Given the description of an element on the screen output the (x, y) to click on. 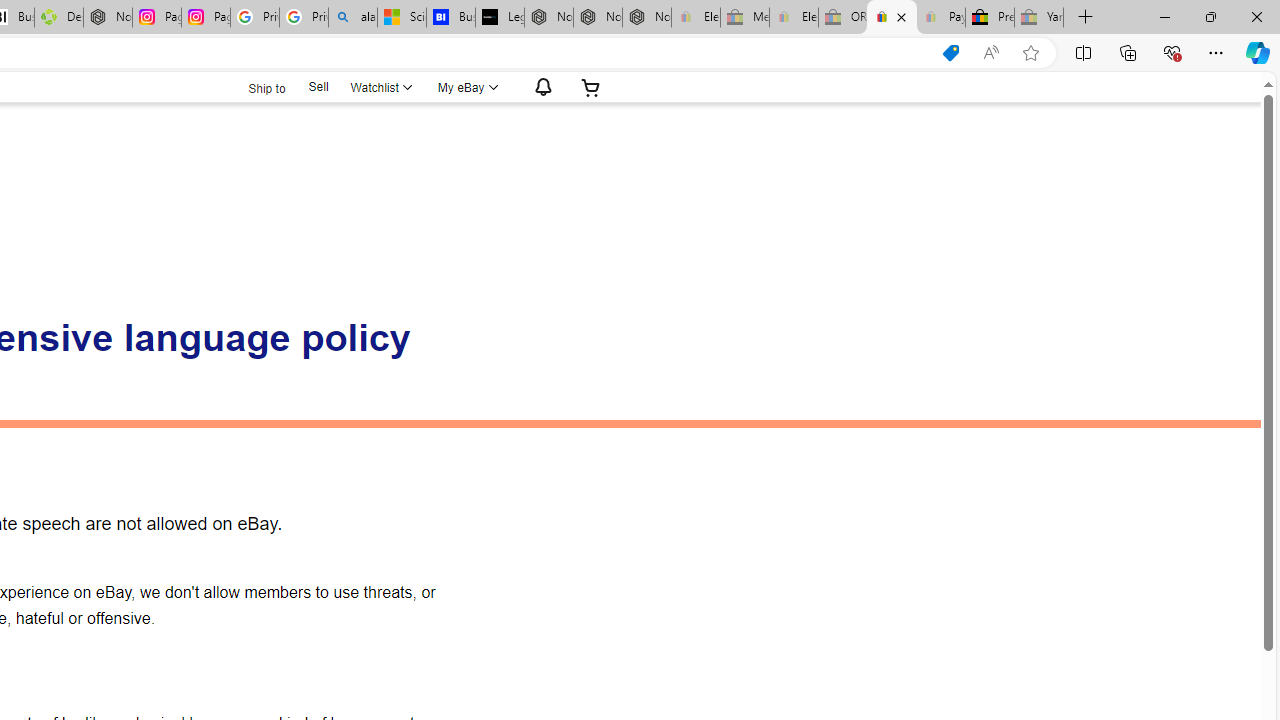
Threats and offensive language policy | eBay (891, 17)
My eBayExpand My eBay (466, 87)
Expand Cart (591, 87)
Ship to (253, 85)
AutomationID: gh-eb-Alerts (540, 87)
